Given the description of an element on the screen output the (x, y) to click on. 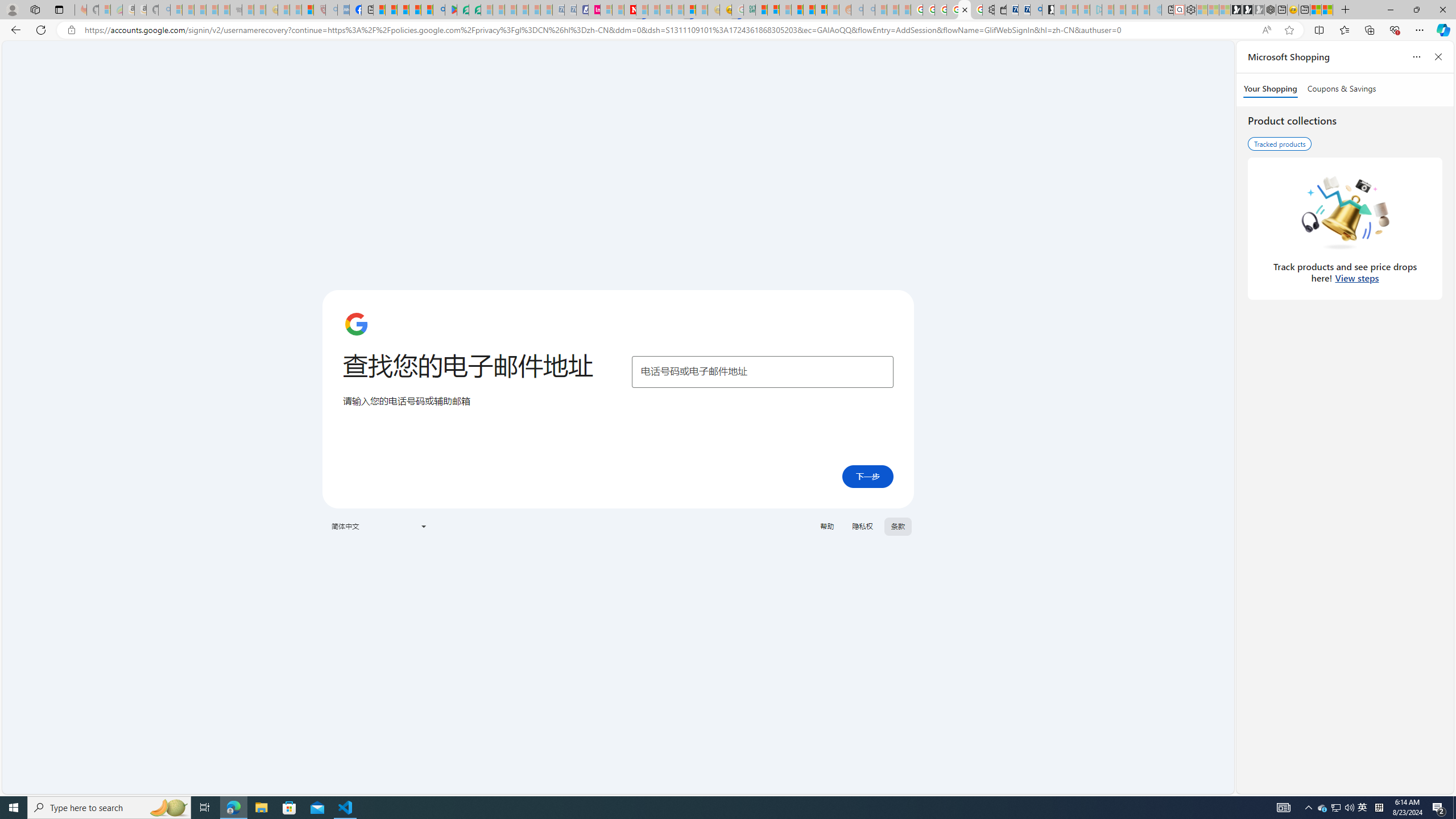
Microsoft account | Privacy - Sleeping (1083, 9)
Bluey: Let's Play! - Apps on Google Play (450, 9)
google - Search (438, 9)
Wildlife - MSN (1315, 9)
